Given the description of an element on the screen output the (x, y) to click on. 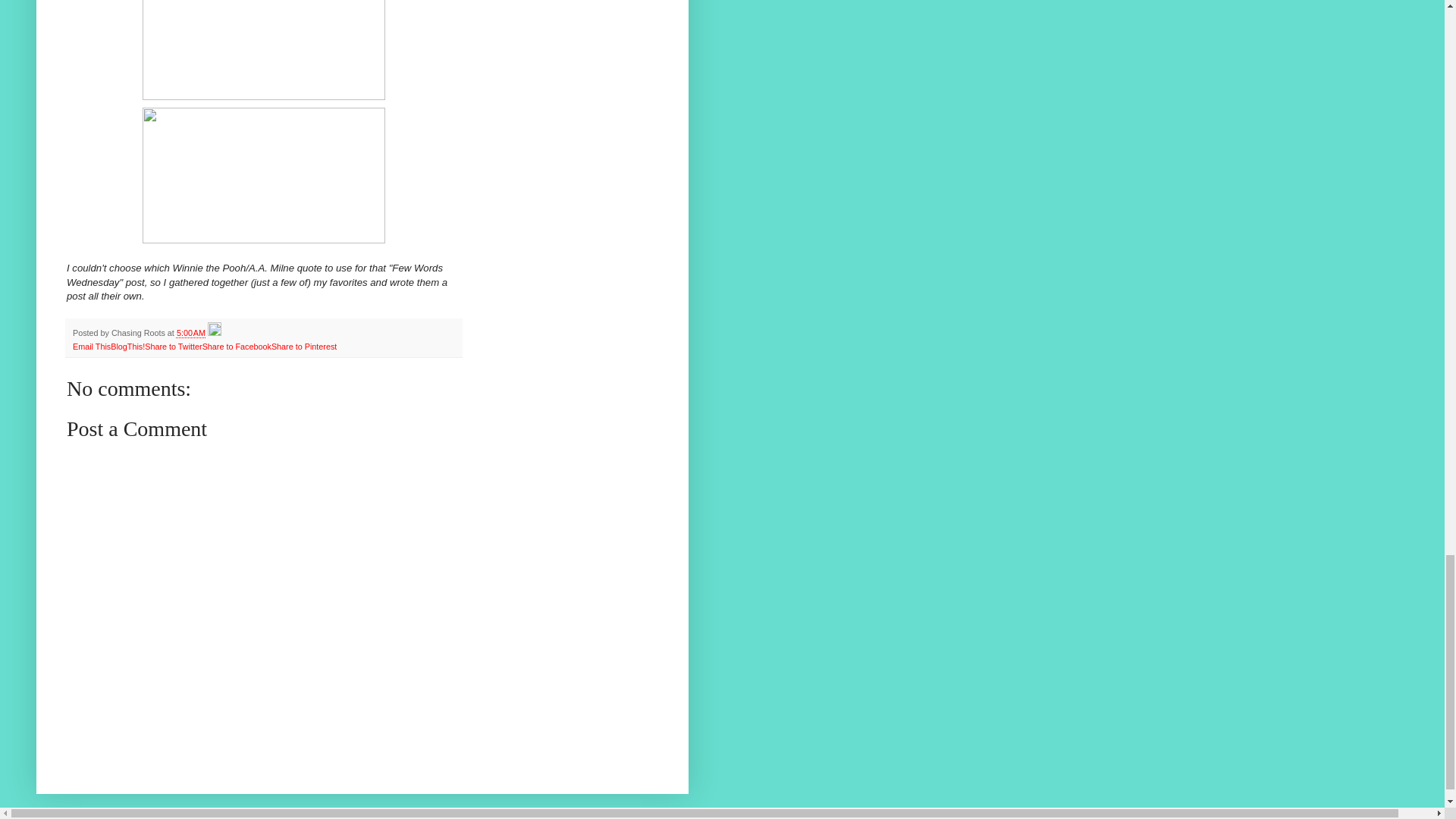
BlogThis! (127, 346)
Email This (91, 346)
Share to Facebook (236, 346)
Edit Post (214, 332)
Share to Facebook (236, 346)
permanent link (190, 332)
Email This (91, 346)
Share to Twitter (173, 346)
Share to Pinterest (303, 346)
Share to Pinterest (303, 346)
